Given the description of an element on the screen output the (x, y) to click on. 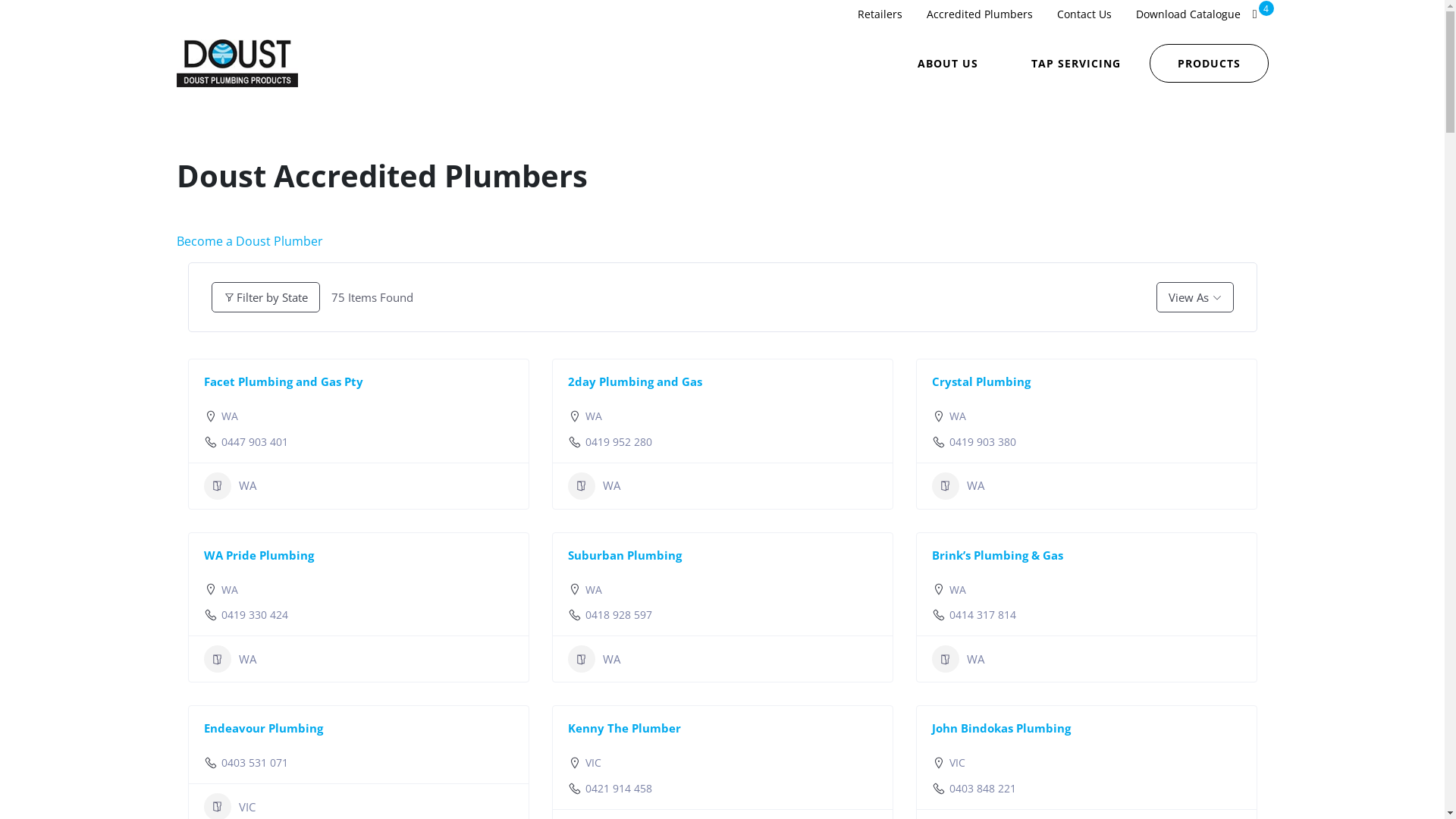
2day Plumbing and Gas Element type: text (634, 381)
WA Element type: text (957, 589)
TAP SERVICING Element type: text (1075, 63)
0419 903 380 Element type: text (982, 442)
VIC Element type: text (957, 762)
View As Element type: text (1194, 297)
0403 848 221 Element type: text (982, 788)
WA Element type: text (229, 589)
0418 928 597 Element type: text (618, 614)
Accredited Plumbers Element type: text (979, 14)
Download Catalogue Element type: text (1187, 14)
0419 952 280 Element type: text (618, 442)
0421 914 458 Element type: text (618, 788)
0447 903 401 Element type: text (254, 442)
PRODUCTS Element type: text (1208, 61)
WA Element type: text (593, 415)
Retailers Element type: text (879, 14)
WA Pride Plumbing Element type: text (258, 554)
0403 531 071 Element type: text (254, 762)
WA Element type: text (593, 658)
WA Element type: text (593, 485)
PRODUCTS Element type: text (1208, 62)
0414 317 814 Element type: text (982, 614)
4 Element type: text (1254, 13)
WA Element type: text (957, 415)
Filter by State Element type: text (264, 297)
VIC Element type: text (593, 762)
0419 330 424 Element type: text (254, 614)
Become a Doust Plumber Element type: text (248, 240)
ABOUT US Element type: text (947, 63)
WA Element type: text (593, 589)
WA Element type: text (957, 658)
Suburban Plumbing Element type: text (623, 554)
Kenny The Plumber Element type: text (623, 727)
WA Element type: text (957, 485)
WA Element type: text (229, 485)
Contact Us Element type: text (1083, 14)
Crystal Plumbing Element type: text (980, 381)
Facet Plumbing and Gas Pty Element type: text (282, 381)
John Bindokas Plumbing Element type: text (1000, 727)
Endeavour Plumbing Element type: text (262, 727)
WA Element type: text (229, 658)
WA Element type: text (229, 415)
